Given the description of an element on the screen output the (x, y) to click on. 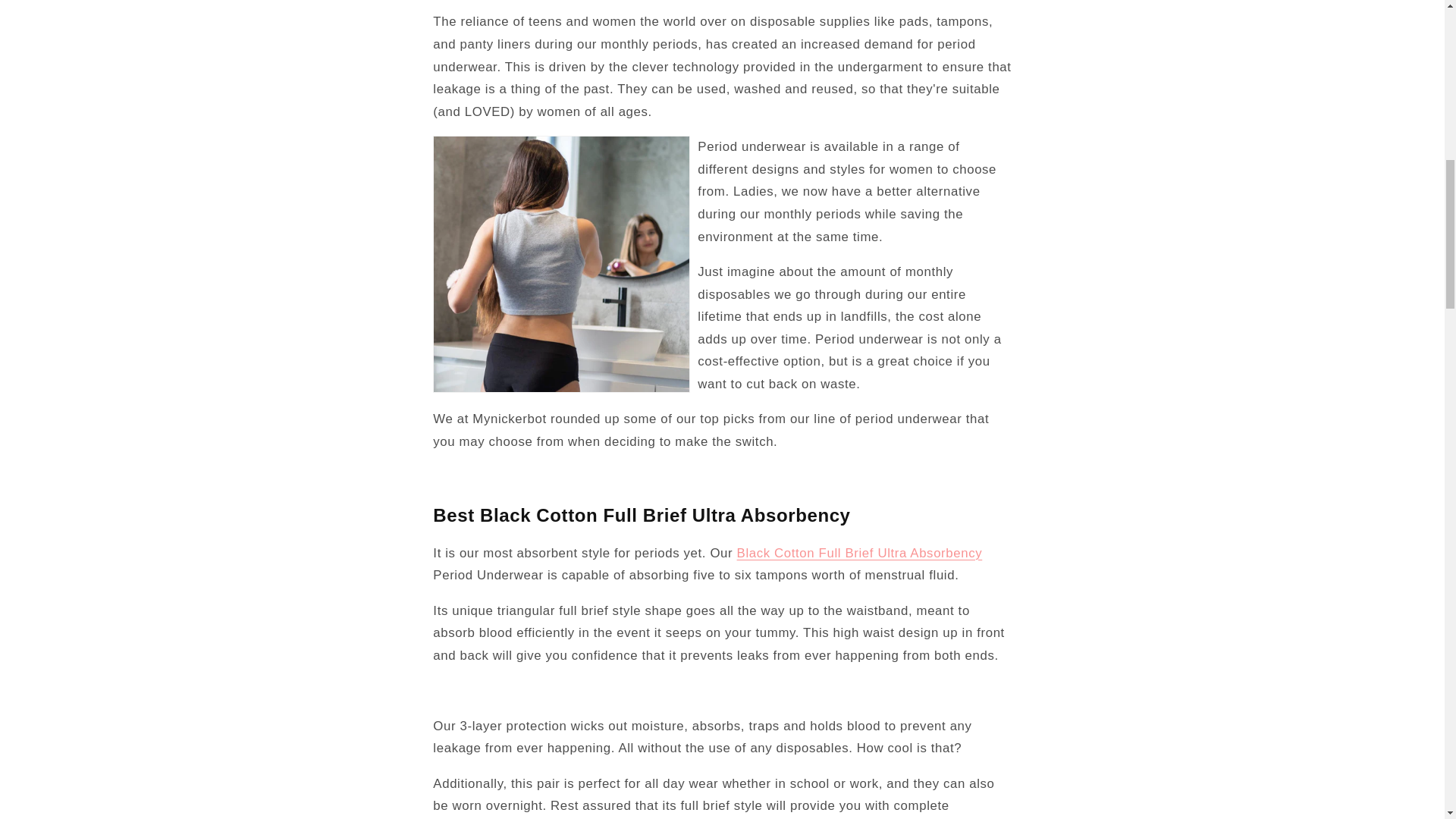
Black Cotton Full Brief Ultra Absorbency (859, 553)
